Given the description of an element on the screen output the (x, y) to click on. 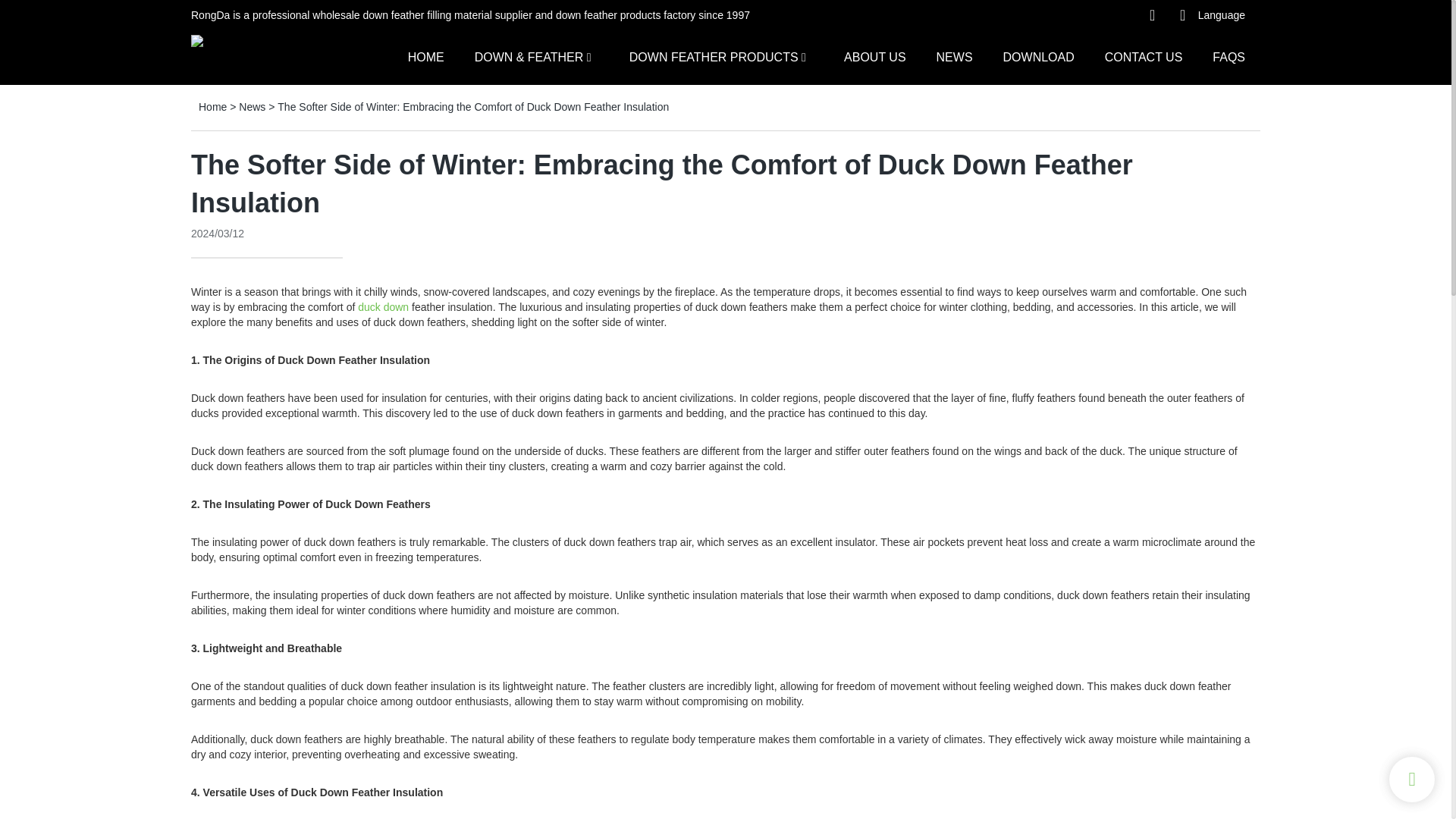
News (251, 106)
DOWN FEATHER PRODUCTS (712, 56)
Home (212, 106)
HOME (425, 56)
NEWS (954, 56)
DOWNLOAD (1038, 56)
ABOUT US (874, 56)
CONTACT US (1143, 56)
duck down (383, 306)
FAQS (1228, 56)
duck down (383, 306)
